Given the description of an element on the screen output the (x, y) to click on. 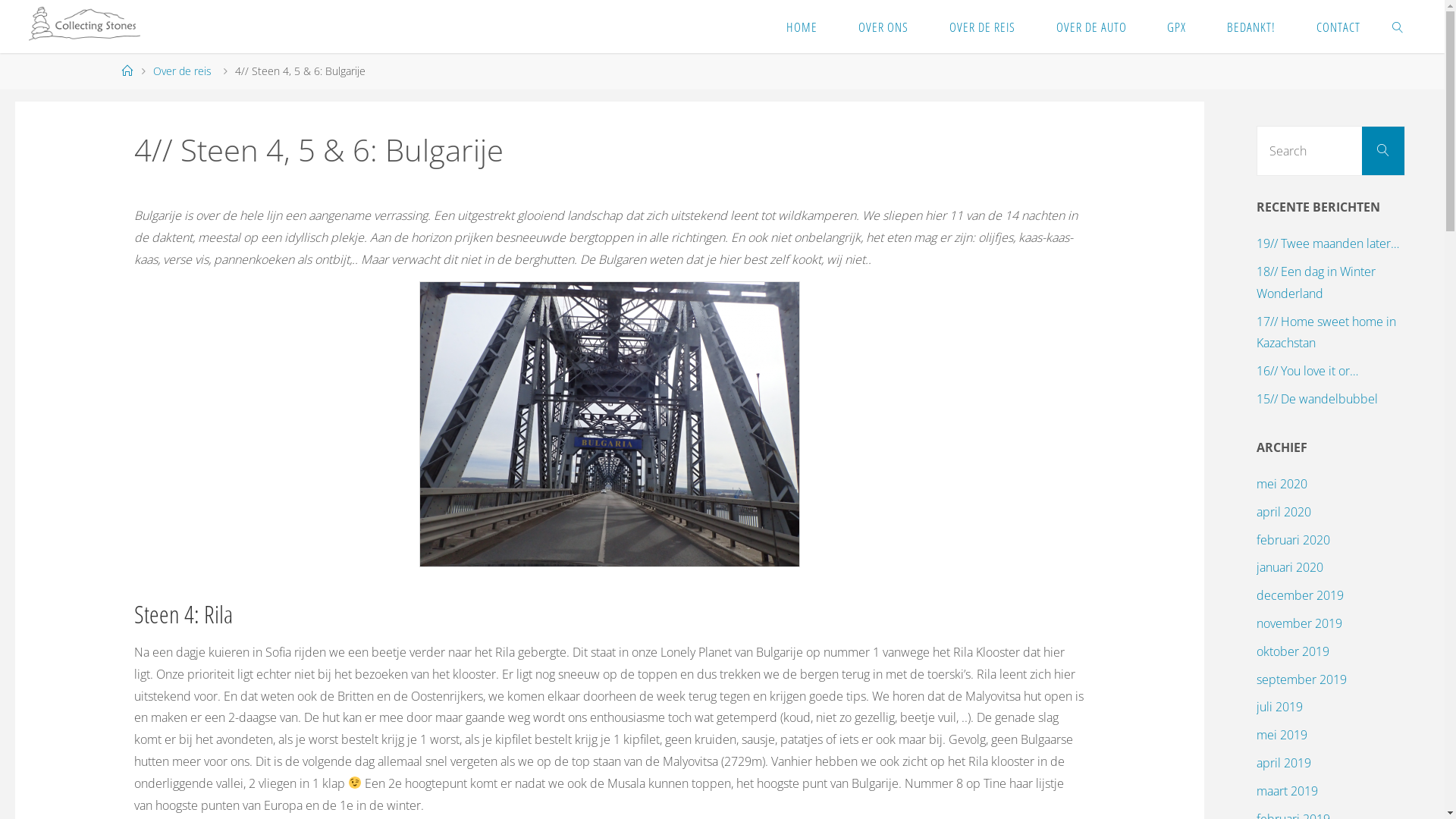
september 2019 Element type: text (1301, 679)
mei 2019 Element type: text (1281, 734)
juli 2019 Element type: text (1279, 706)
Collecting Stones Element type: hover (84, 26)
BEDANKT! Element type: text (1250, 26)
OVER ONS Element type: text (882, 26)
januari 2020 Element type: text (1289, 566)
Skip to content Element type: text (785, 63)
CONTACT Element type: text (1337, 26)
april 2019 Element type: text (1283, 762)
Home Element type: text (127, 70)
GPX Element type: text (1177, 26)
17// Home sweet home in Kazachstan Element type: text (1326, 332)
mei 2020 Element type: text (1281, 483)
SEARCH Element type: text (1397, 26)
maart 2019 Element type: text (1286, 790)
OVER DE REIS Element type: text (981, 26)
april 2020 Element type: text (1283, 511)
oktober 2019 Element type: text (1292, 651)
december 2019 Element type: text (1299, 594)
OVER DE AUTO Element type: text (1091, 26)
Search Element type: text (1382, 150)
november 2019 Element type: text (1299, 623)
18// Een dag in Winter Wonderland Element type: text (1315, 282)
februari 2020 Element type: text (1293, 539)
Over de reis Element type: text (182, 70)
HOME Element type: text (802, 26)
15// De wandelbubbel Element type: text (1316, 398)
